Given the description of an element on the screen output the (x, y) to click on. 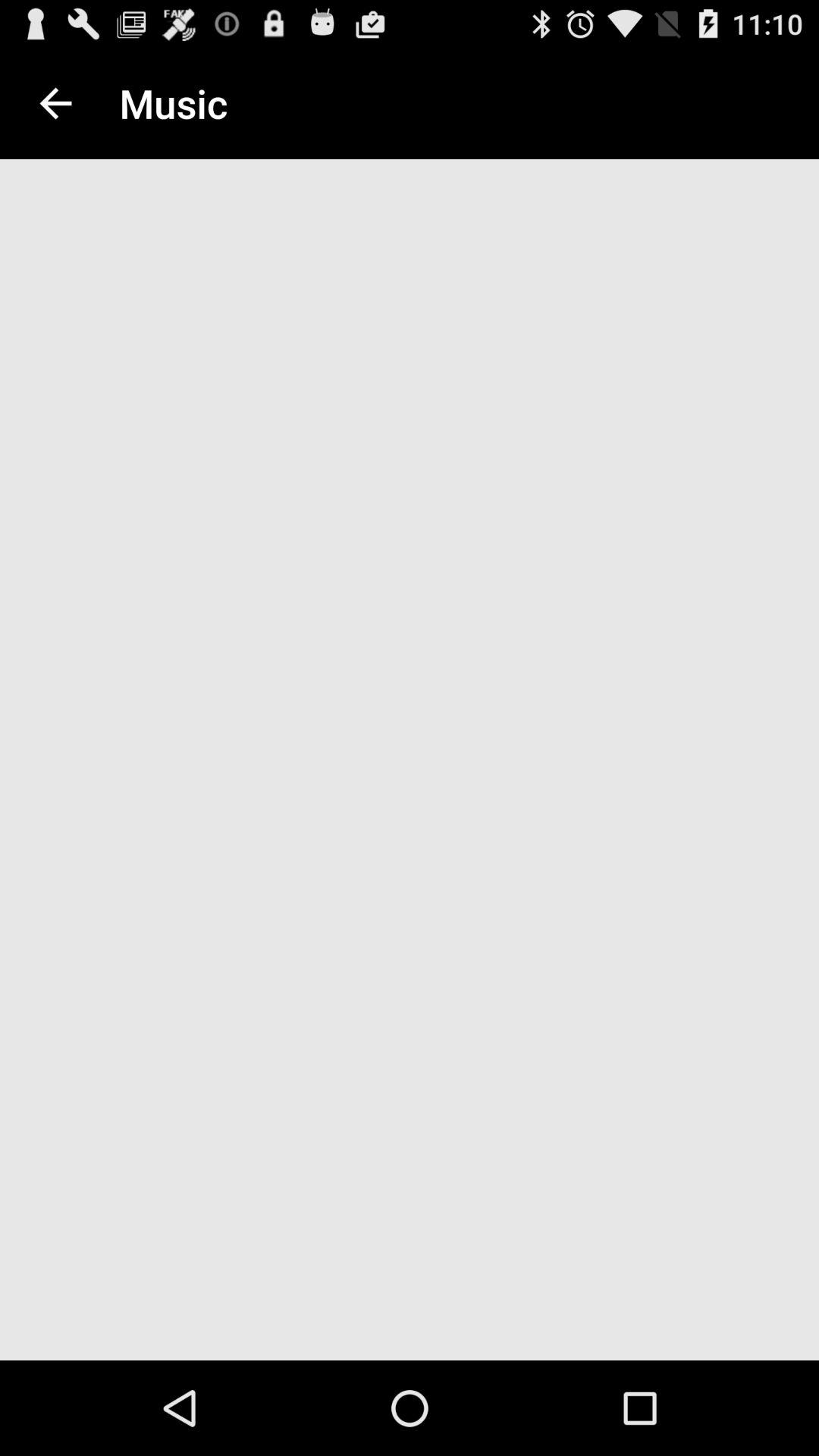
click icon next to the music app (55, 103)
